Given the description of an element on the screen output the (x, y) to click on. 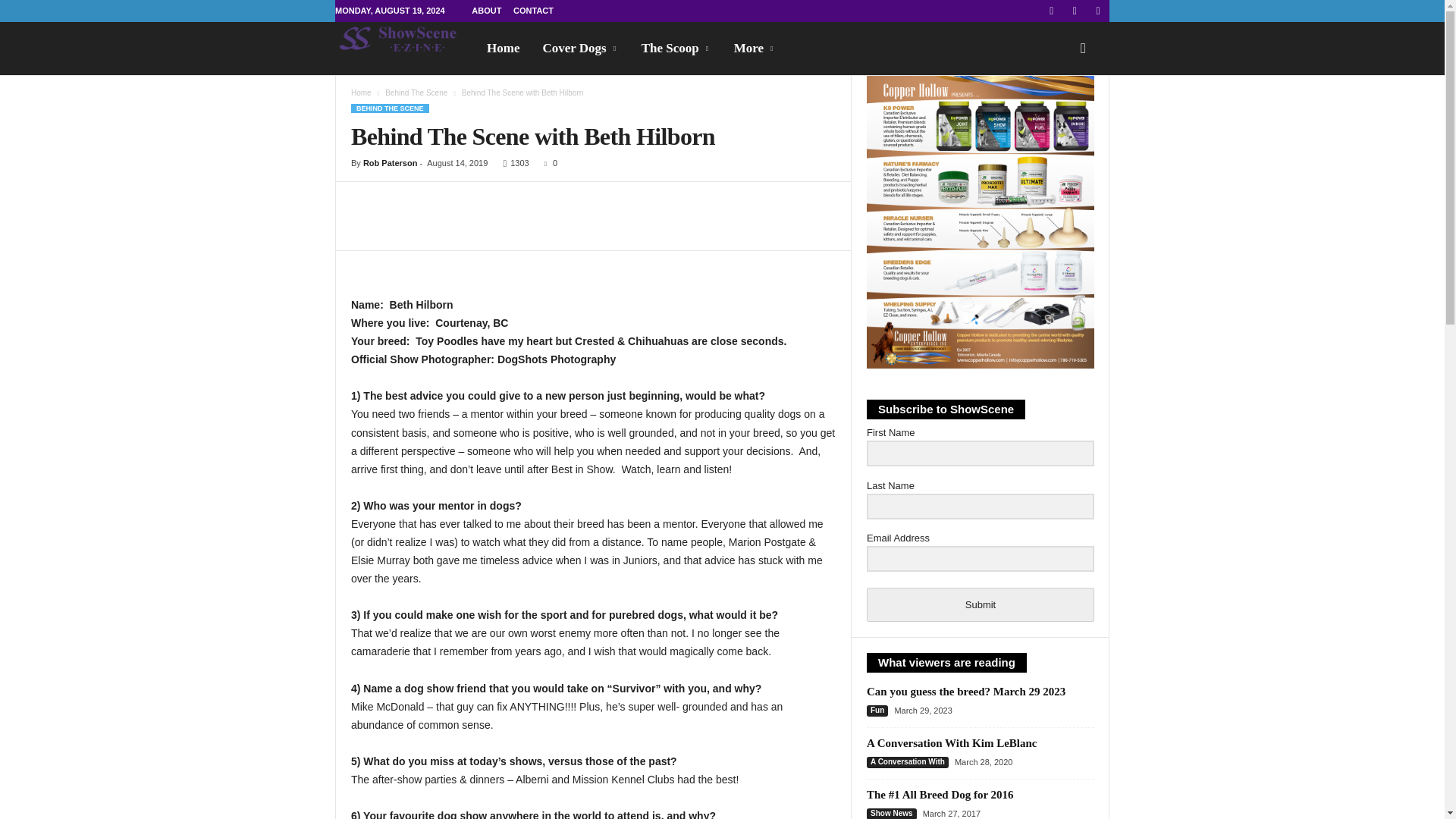
Cover Dogs (580, 48)
ABOUT (485, 10)
CONTACT (533, 10)
The Scoop (676, 48)
Home (503, 48)
ShowScene (405, 39)
